Given the description of an element on the screen output the (x, y) to click on. 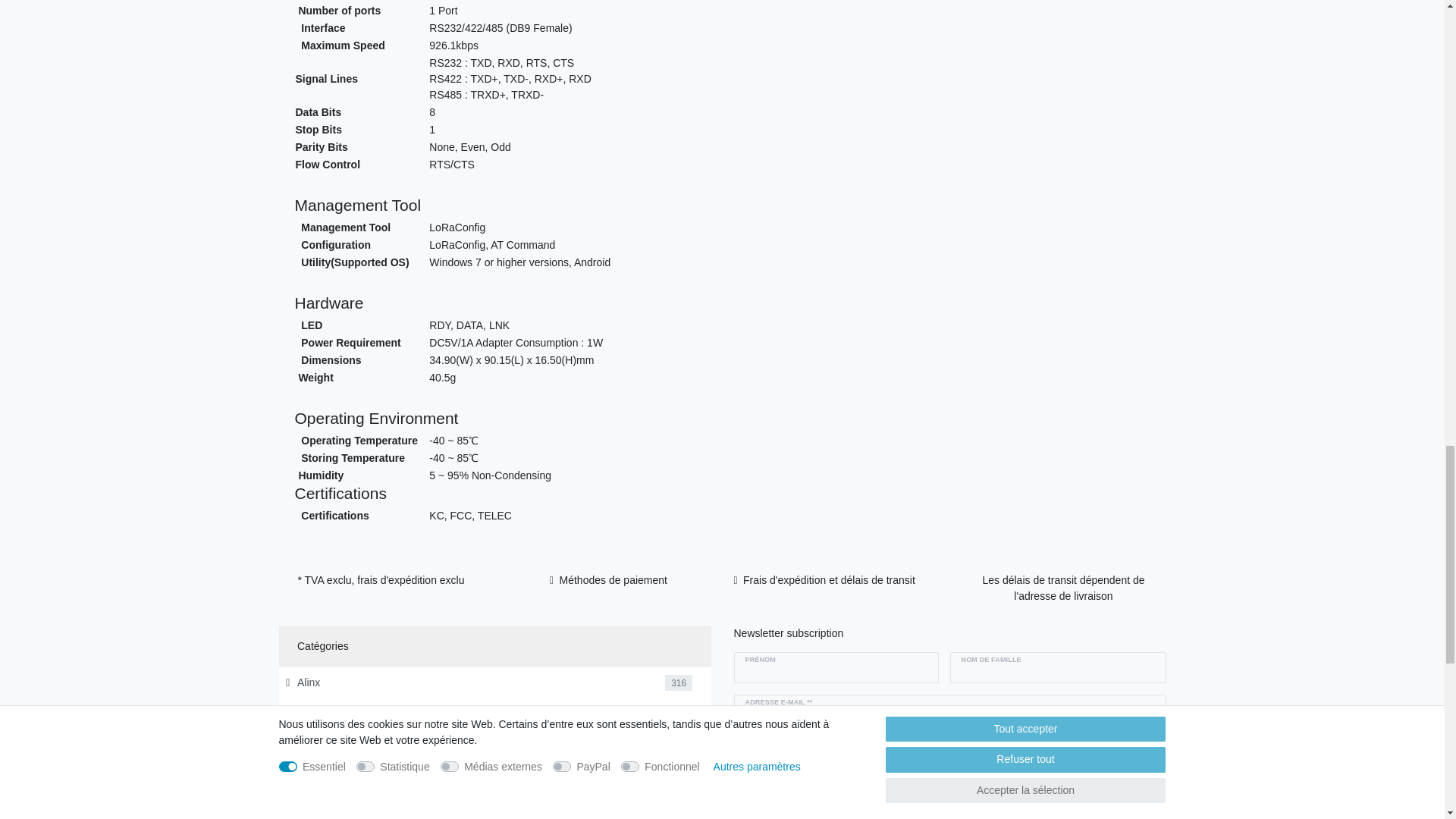
on (738, 744)
